Given the description of an element on the screen output the (x, y) to click on. 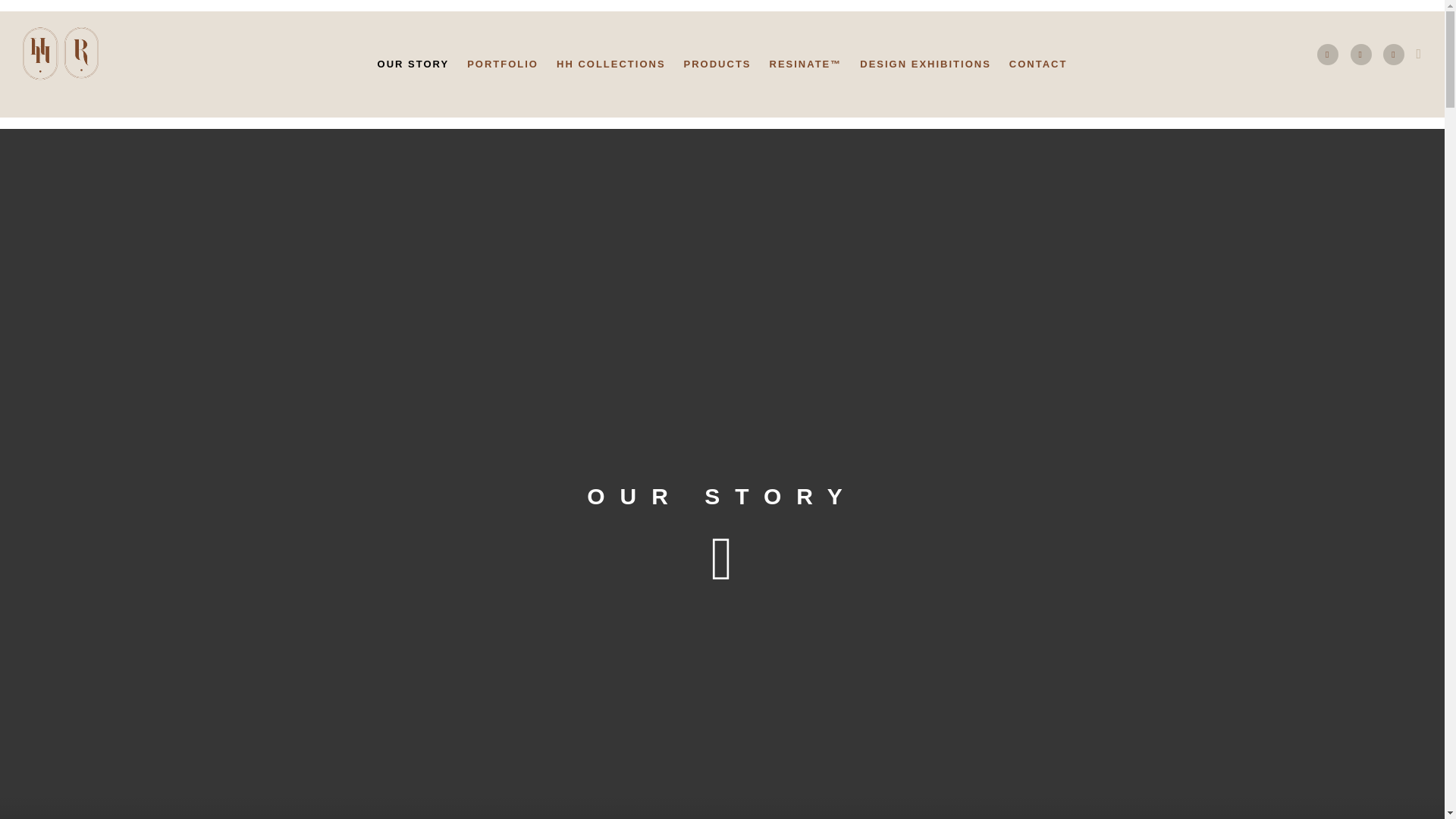
Portfolio (502, 63)
HH COLLECTIONS (611, 63)
DESIGN EXHIBITIONS (925, 63)
Products (717, 63)
HH collections (611, 63)
CONTACT (1038, 63)
PORTFOLIO (502, 63)
PRODUCTS (717, 63)
OUR STORY (413, 63)
Our Story (413, 63)
